Given the description of an element on the screen output the (x, y) to click on. 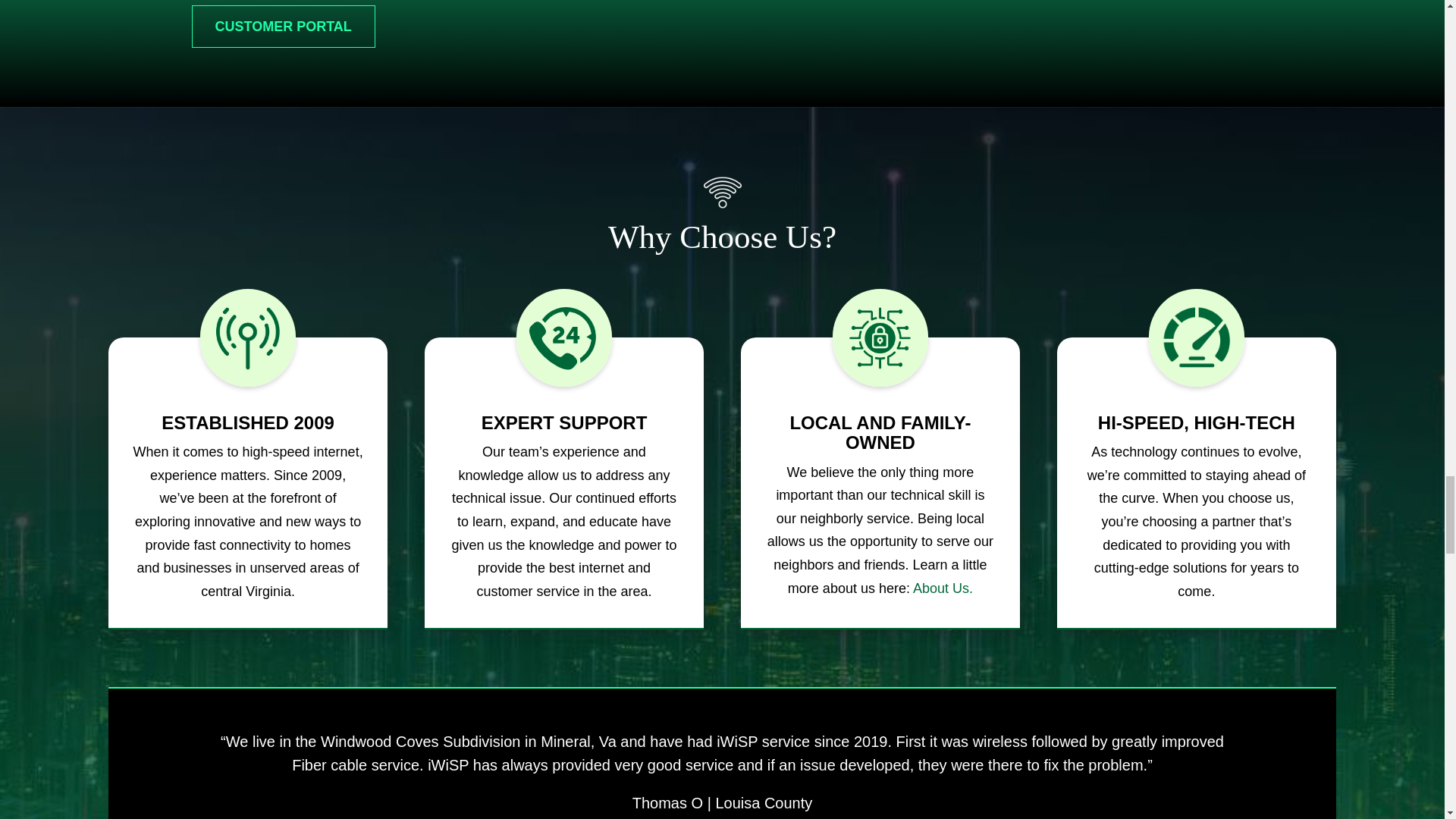
wc3 (880, 339)
ico-wifi-white (722, 192)
CUSTOMER PORTAL (282, 26)
cta-pic-min (1130, 53)
wc2 (564, 339)
wc4 (1196, 339)
wc1 (247, 339)
About Us. (942, 588)
